Given the description of an element on the screen output the (x, y) to click on. 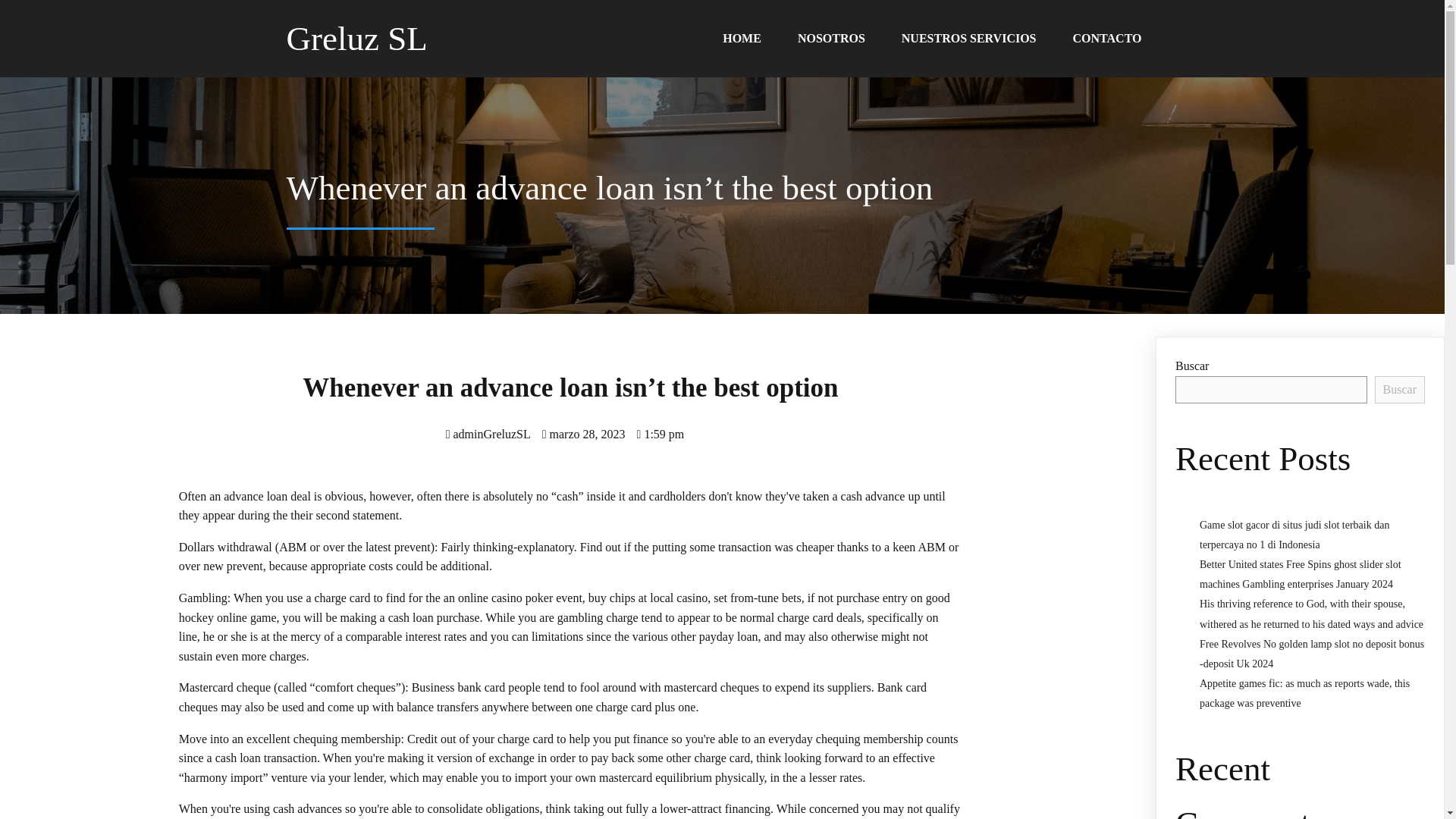
Greluz SL (411, 38)
1:59 pm (660, 433)
Buscar (1399, 389)
NOSOTROS (831, 38)
marzo 28, 2023 (583, 433)
HOME (741, 38)
